Given the description of an element on the screen output the (x, y) to click on. 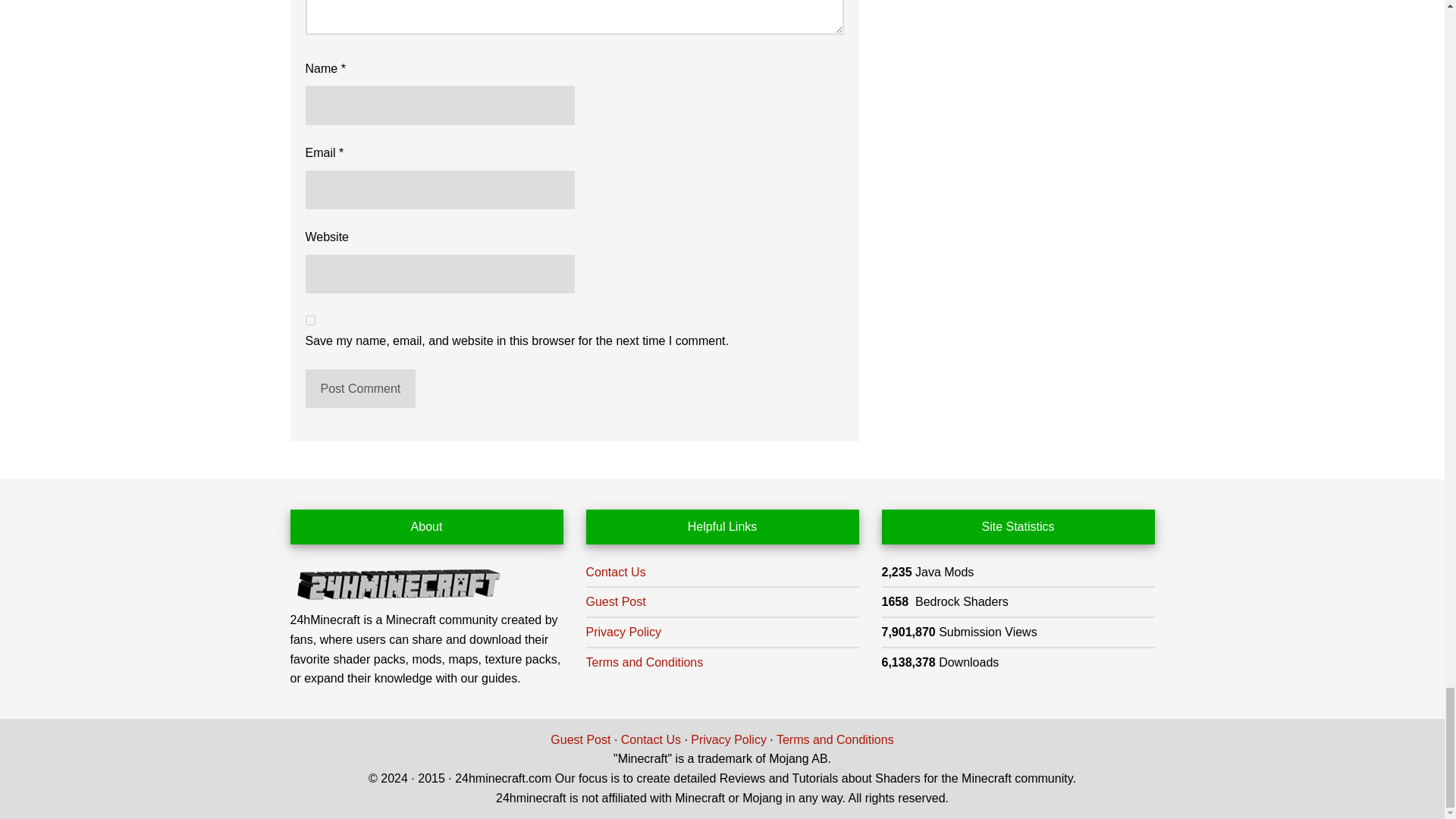
Post Comment (359, 388)
yes (309, 320)
